Given the description of an element on the screen output the (x, y) to click on. 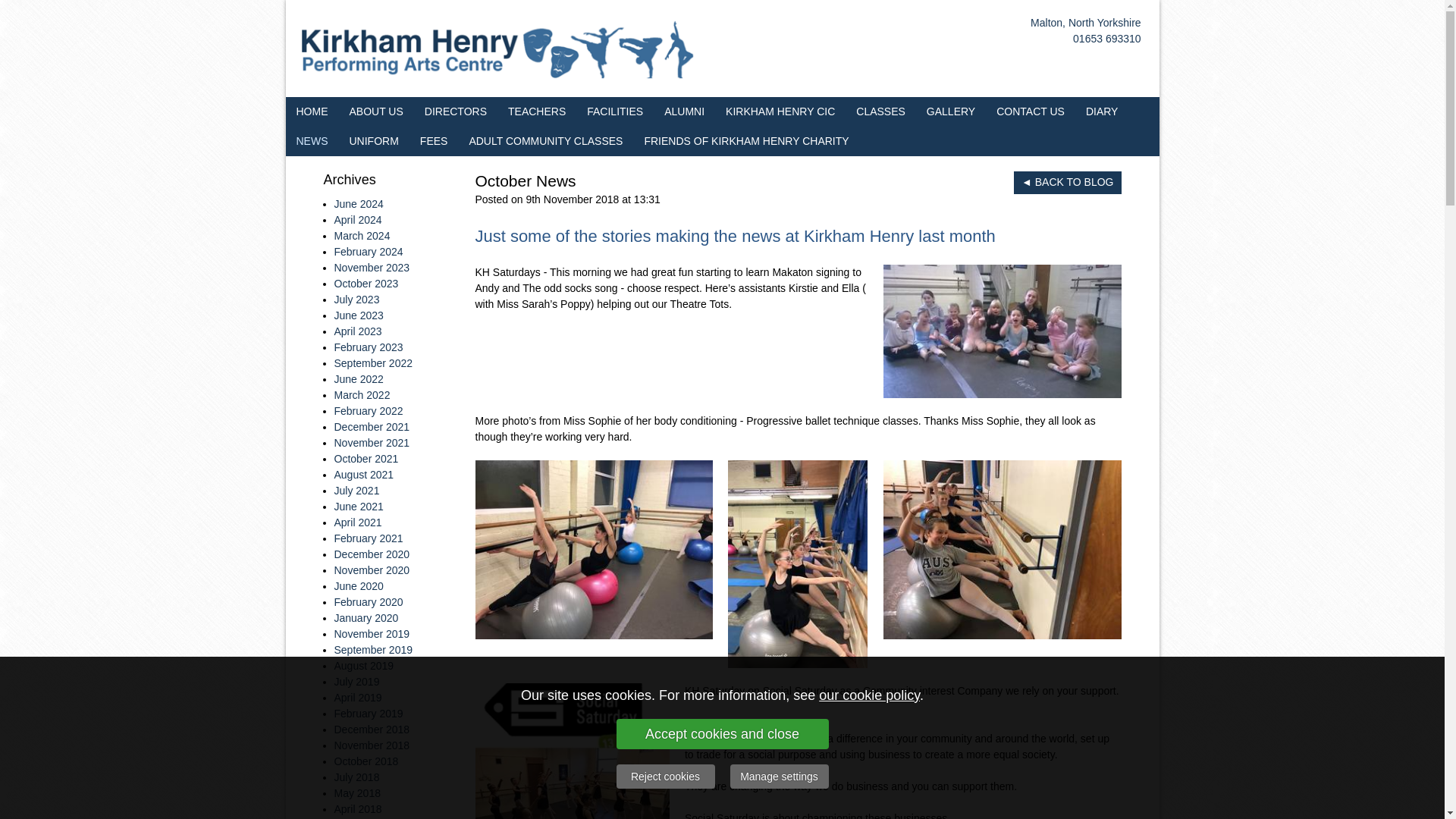
June 2024 (357, 203)
KIRKHAM HENRY CIC (779, 111)
TEACHERS (536, 111)
BACK TO BLOG (1067, 182)
ABOUT US (375, 111)
DIRECTORS (455, 111)
March 2024 (361, 235)
DIARY (1102, 111)
GALLERY (950, 111)
November 2023 (371, 267)
CLASSES (880, 111)
July 2023 (355, 299)
HOME (311, 111)
01653 693310 (1107, 38)
February 2024 (368, 251)
